Given the description of an element on the screen output the (x, y) to click on. 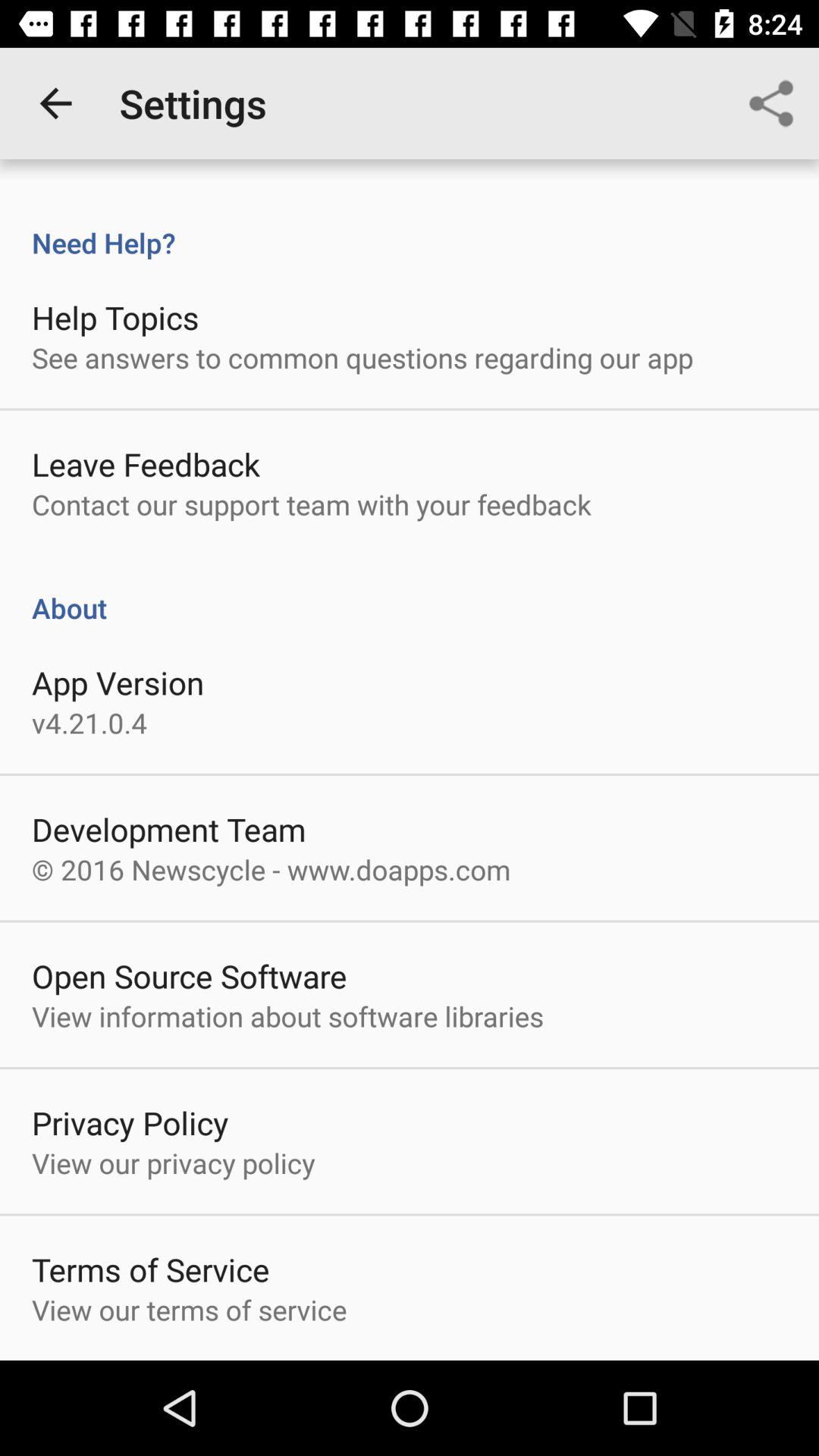
click app to the right of the settings (771, 103)
